Given the description of an element on the screen output the (x, y) to click on. 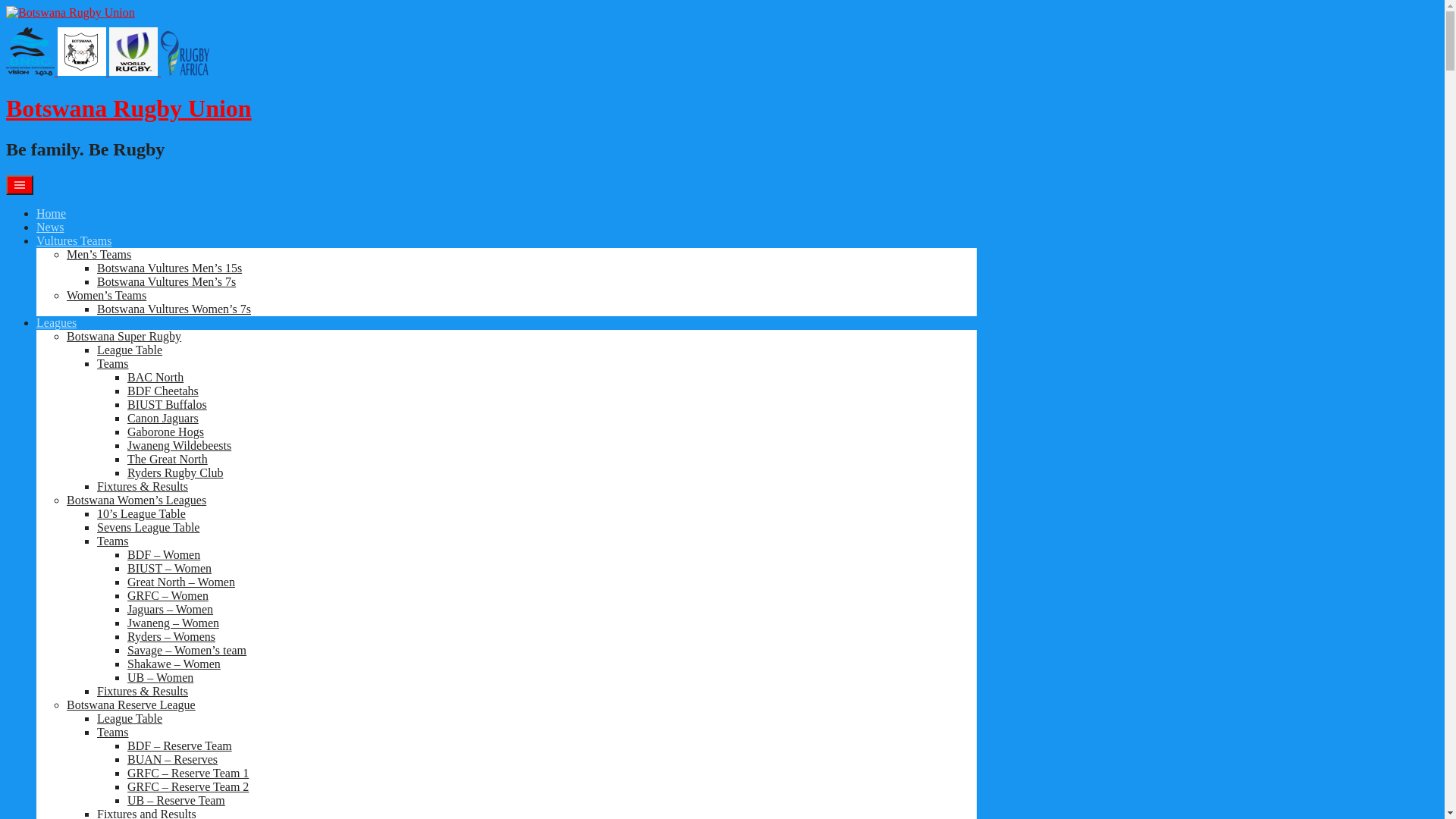
Botswana Reserve League Element type: text (130, 704)
Botswana  National Sports Council Element type: hover (30, 51)
Teams Element type: text (112, 731)
League Table Element type: text (129, 349)
Botswana Super Rugby Element type: text (123, 335)
Leagues Element type: text (56, 322)
Jwaneng Wildebeests Element type: text (179, 445)
The Great North Element type: text (167, 458)
BIUST Buffalos Element type: text (167, 404)
Canon Jaguars Element type: text (162, 417)
Vultures Teams Element type: text (73, 240)
World Rugby Union Element type: hover (133, 51)
Skip to content Element type: text (5, 5)
BAC North Element type: text (155, 376)
Fixtures & Results Element type: text (142, 486)
Fixtures & Results Element type: text (142, 690)
BDF Cheetahs Element type: text (162, 390)
Sevens League Table Element type: text (148, 526)
Teams Element type: text (112, 540)
Gaborone Hogs Element type: text (165, 431)
News Element type: text (49, 226)
Ryders Rugby Club Element type: text (174, 472)
Rugby Africa Element type: hover (184, 53)
Home Element type: text (50, 213)
League Table Element type: text (129, 718)
Botswana National Olympic Committee Element type: hover (81, 51)
Botswana Rugby Union Element type: text (128, 108)
Teams Element type: text (112, 363)
